Given the description of an element on the screen output the (x, y) to click on. 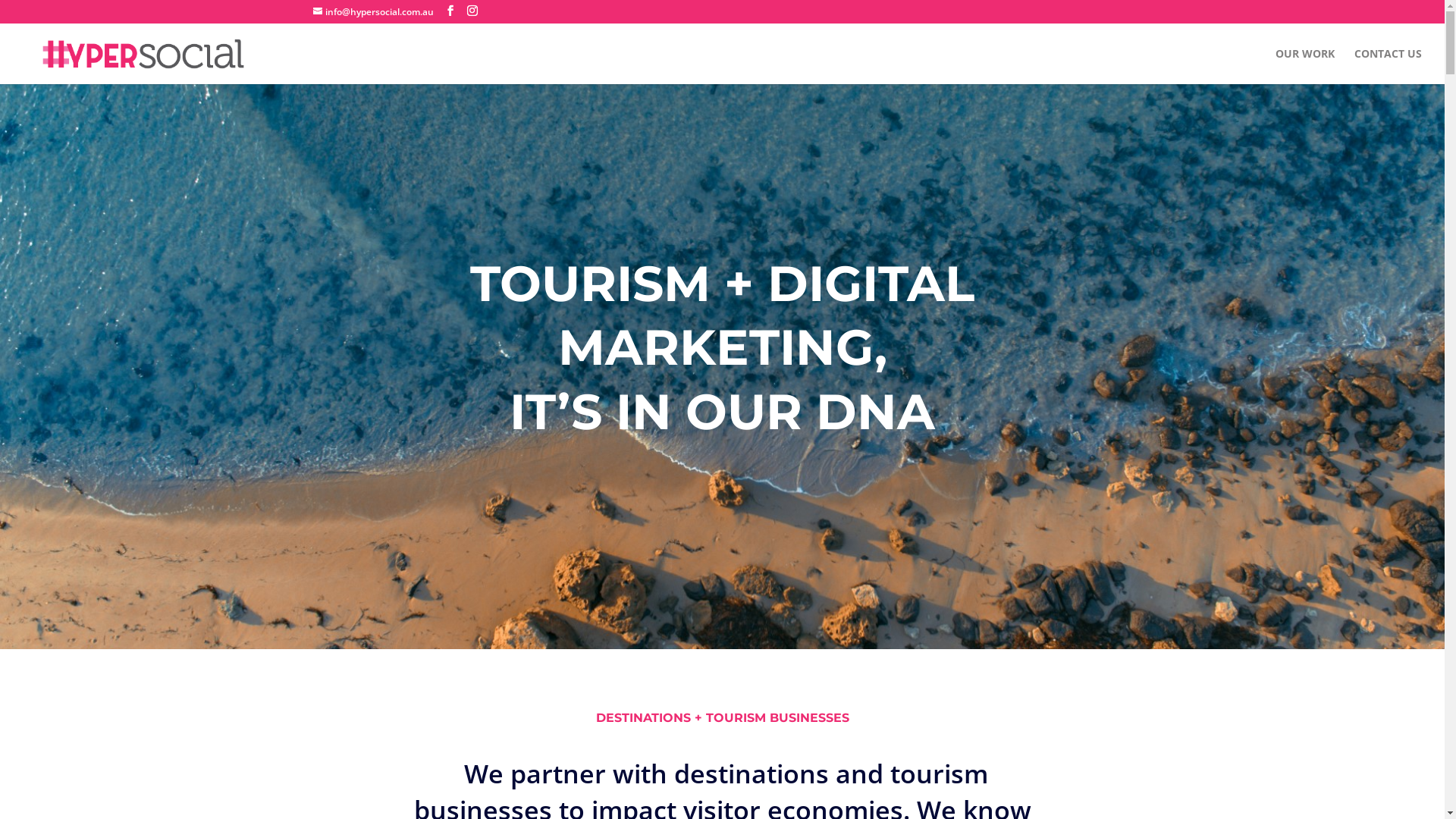
CONTACT US Element type: text (1387, 66)
OUR WORK Element type: text (1304, 66)
info@hypersocial.com.au Element type: text (372, 11)
